Given the description of an element on the screen output the (x, y) to click on. 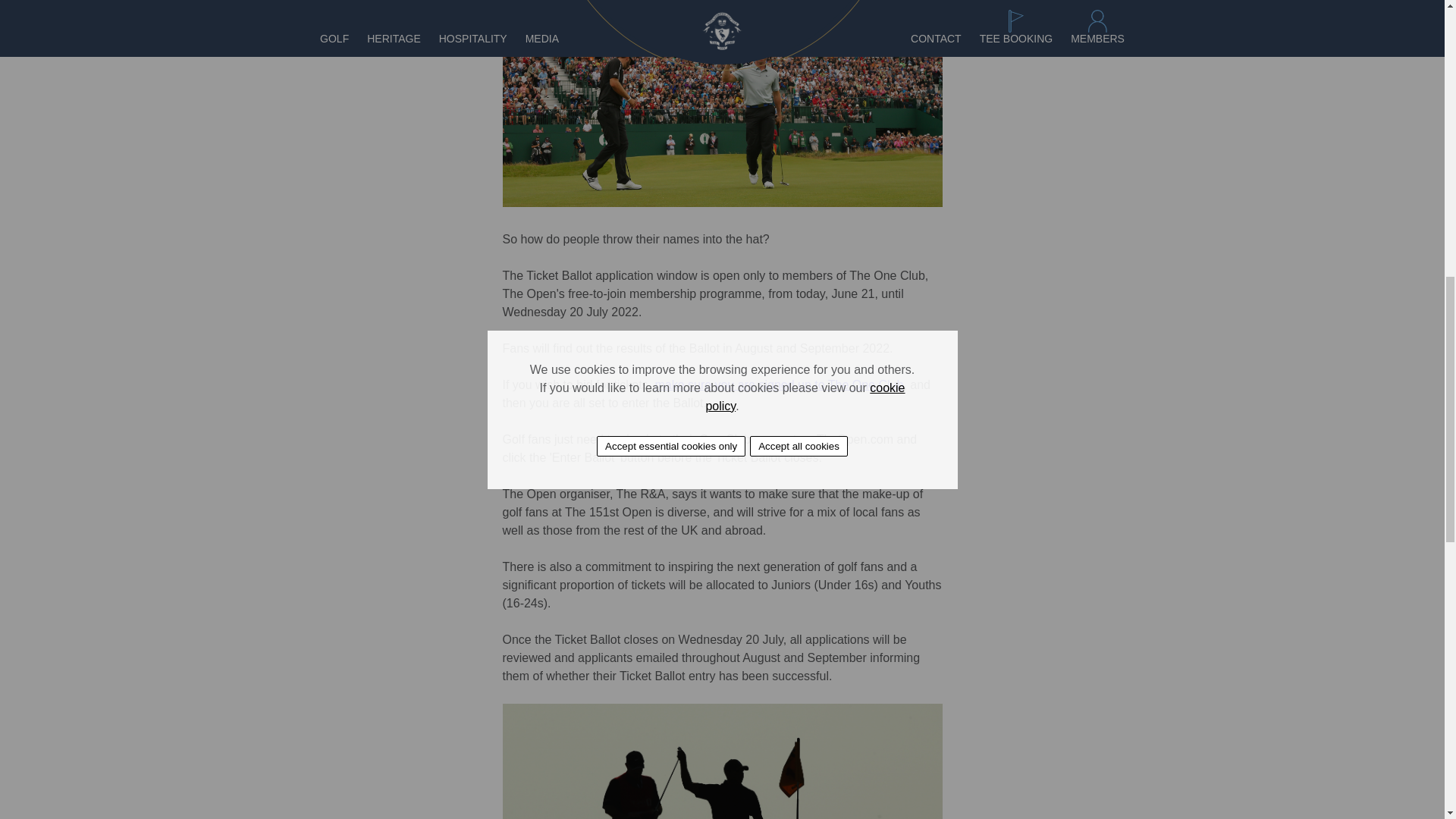
make sure you are signed up to The One Club (777, 384)
